Given the description of an element on the screen output the (x, y) to click on. 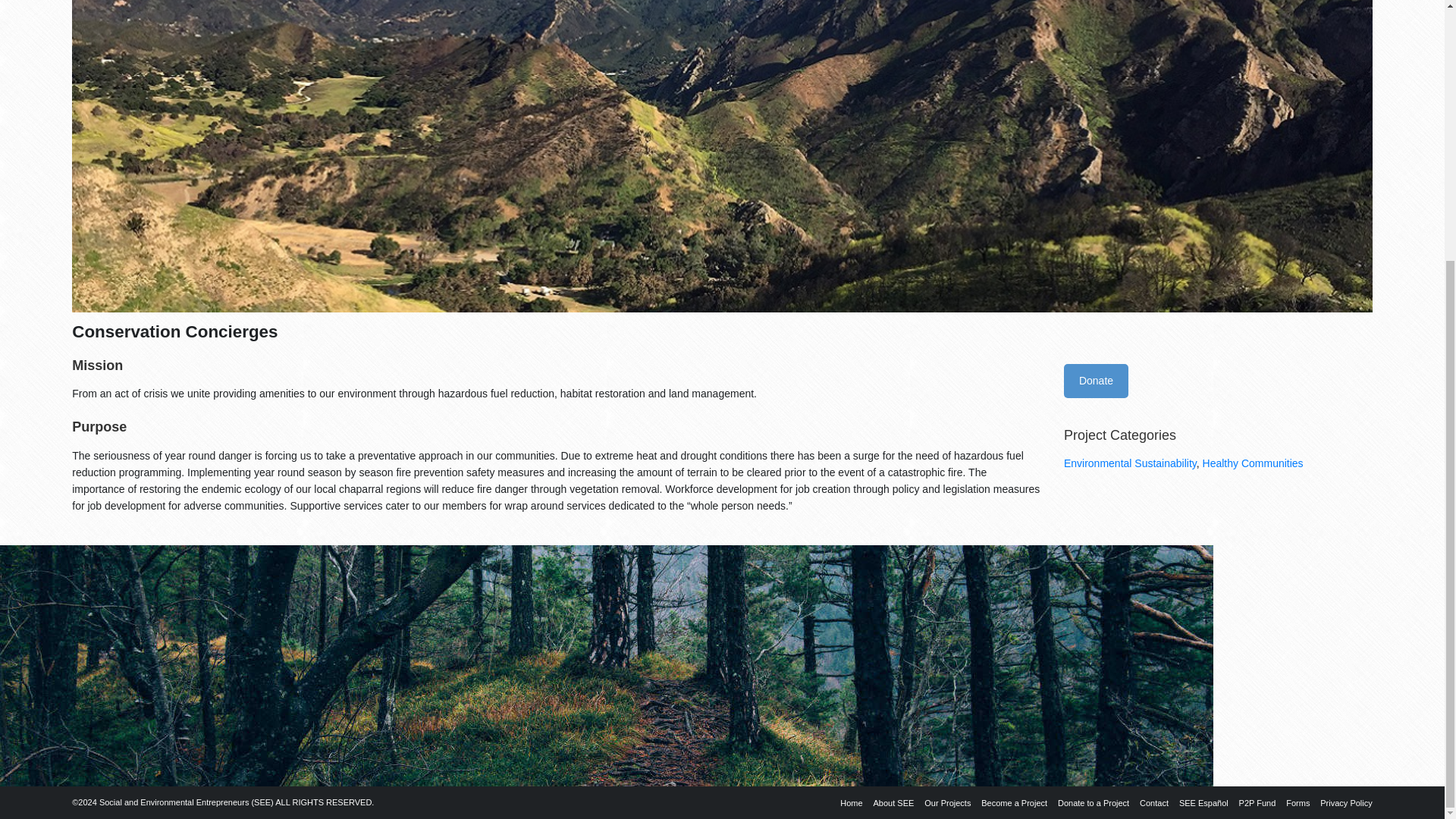
Home (846, 802)
Environmental Sustainability (1130, 463)
Healthy Communities (1252, 463)
About SEE (890, 802)
Donate (1096, 380)
Our Projects (944, 802)
